Given the description of an element on the screen output the (x, y) to click on. 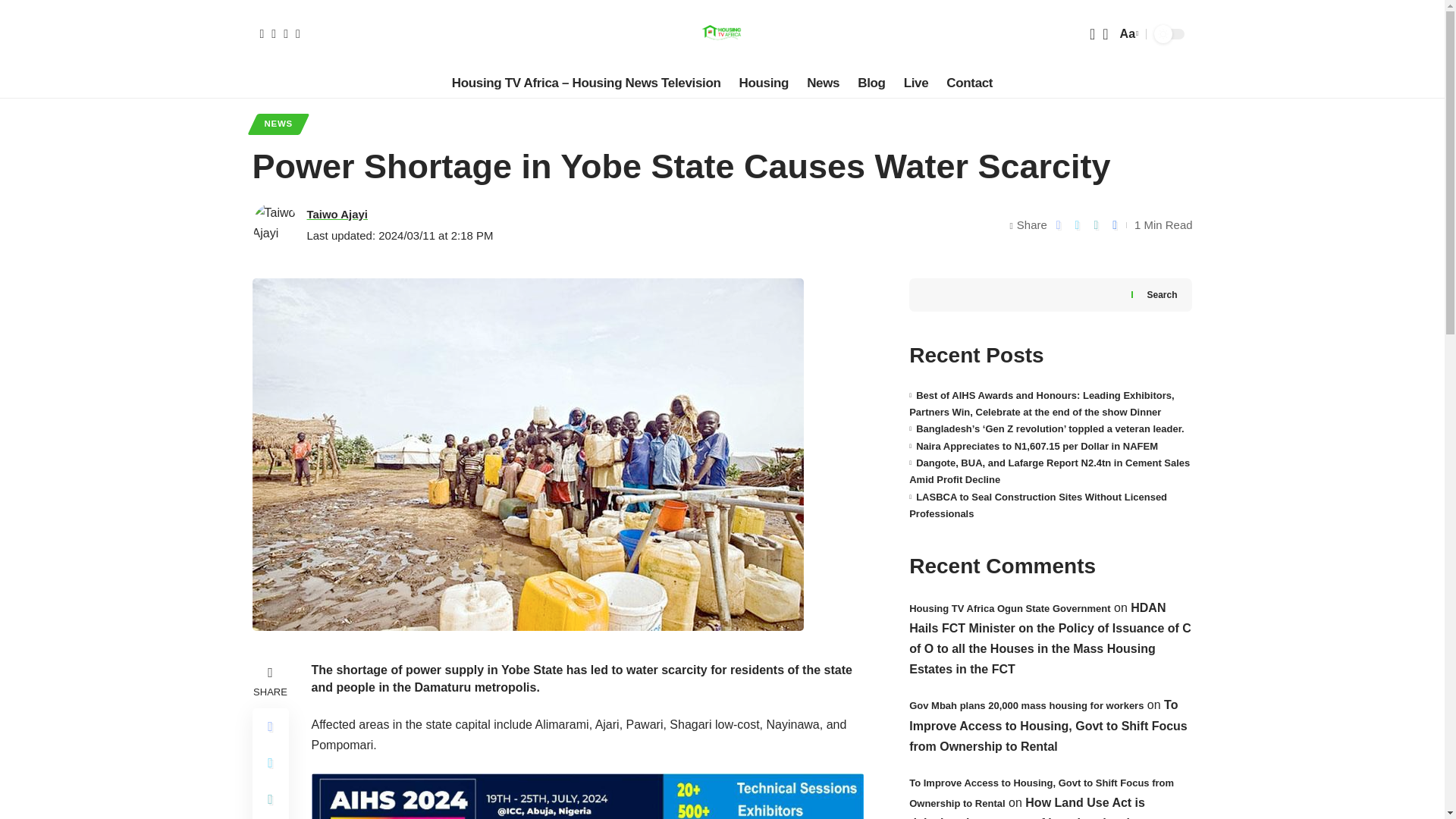
News (822, 82)
Taiwo Ajayi (336, 213)
Blog (870, 82)
Housing TV Africa (721, 33)
Housing (763, 82)
Aa (1127, 33)
Live (916, 82)
NEWS (277, 124)
Contact (969, 82)
